Given the description of an element on the screen output the (x, y) to click on. 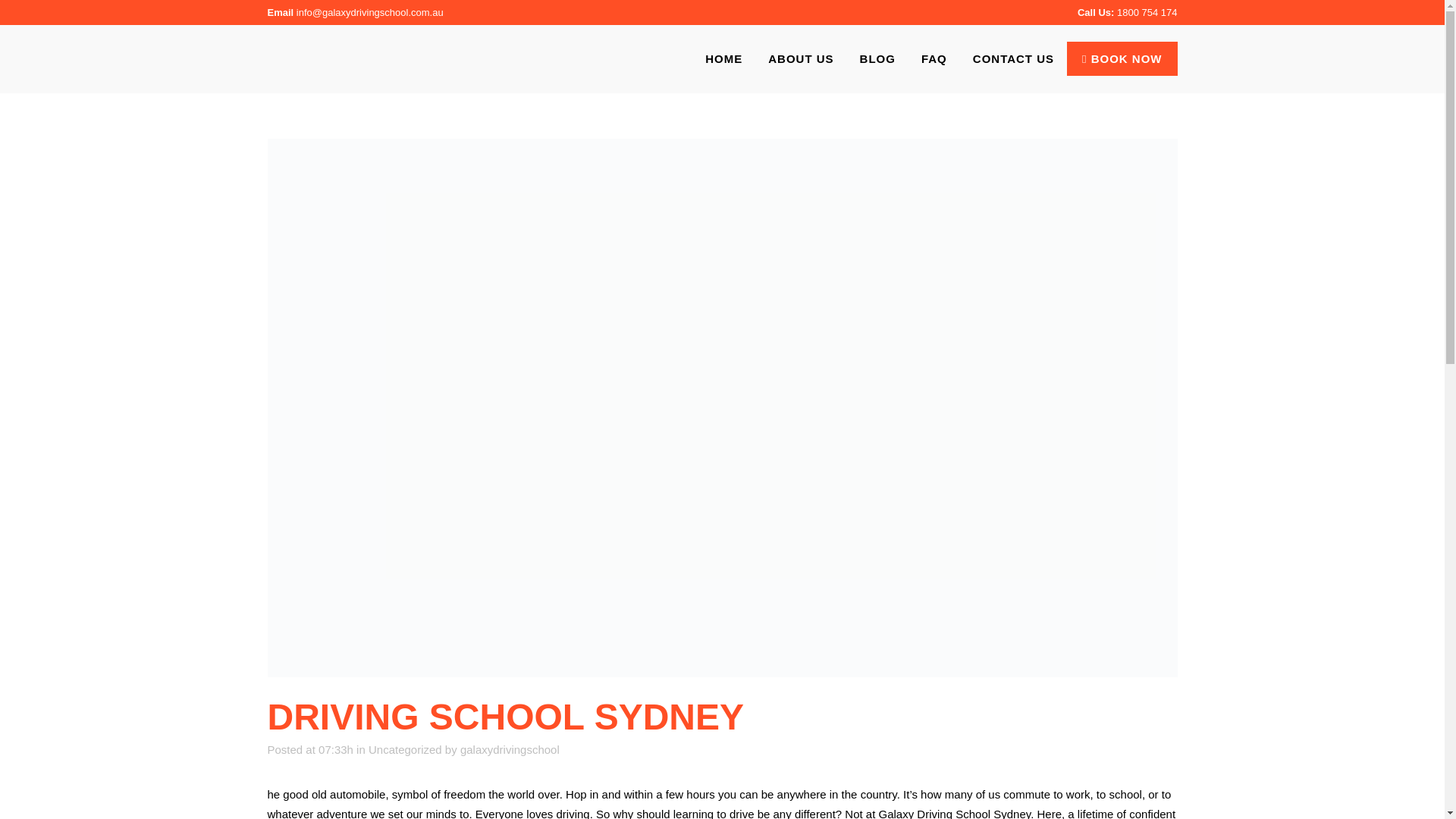
FAQ (933, 58)
Uncategorized (405, 748)
1800 754 174 (1146, 12)
BLOG (877, 58)
ABOUT US (800, 58)
CONTACT US (1013, 58)
galaxydrivingschool (509, 748)
BOOK NOW (1121, 58)
HOME (724, 58)
